Given the description of an element on the screen output the (x, y) to click on. 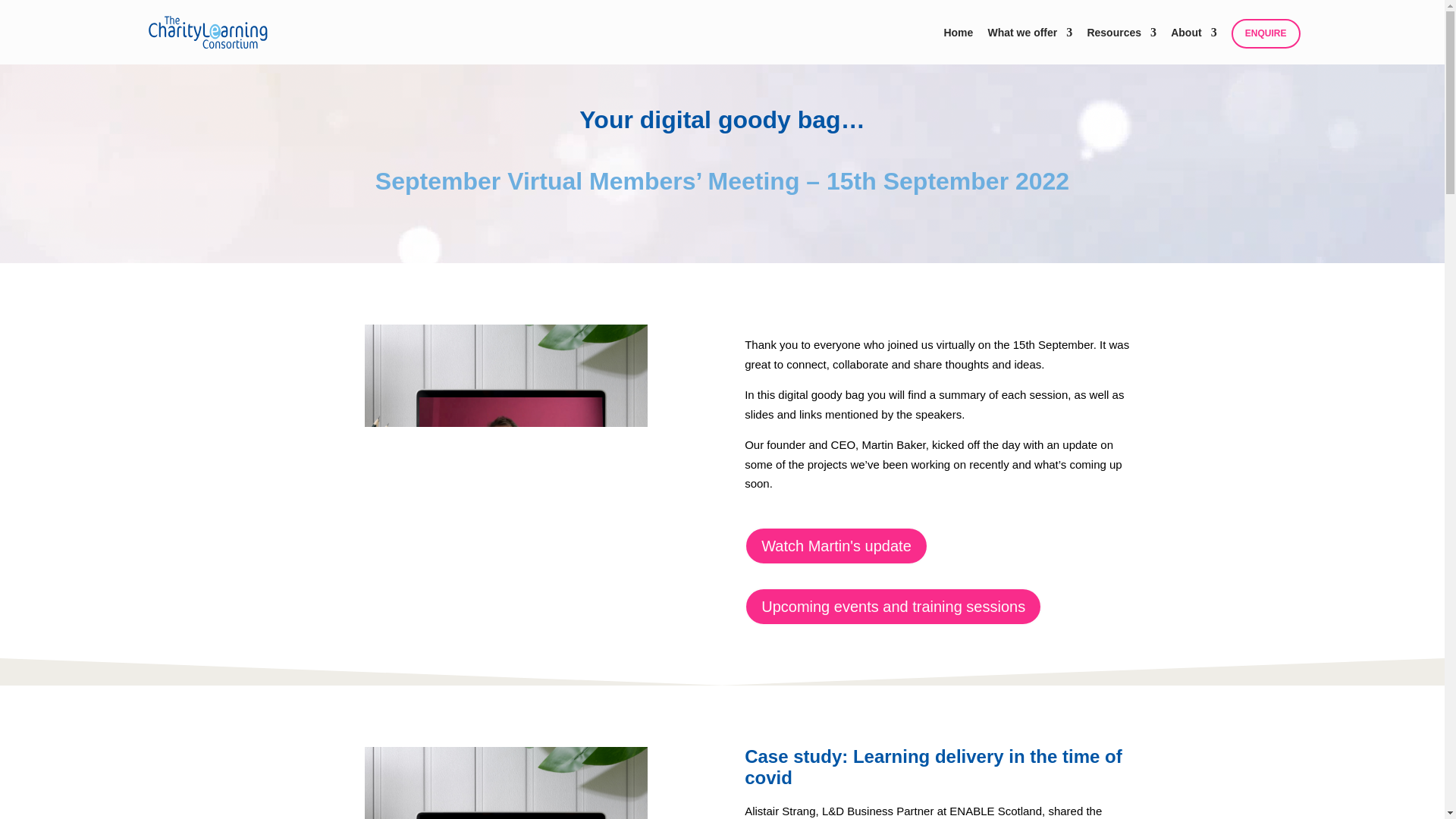
Upcoming events and training sessions (893, 606)
Watch Martin's update (836, 546)
Home (957, 41)
About (1192, 41)
ENQUIRE (1265, 33)
What we offer (1029, 41)
Resources (1121, 41)
1 (506, 782)
2 (506, 441)
